Given the description of an element on the screen output the (x, y) to click on. 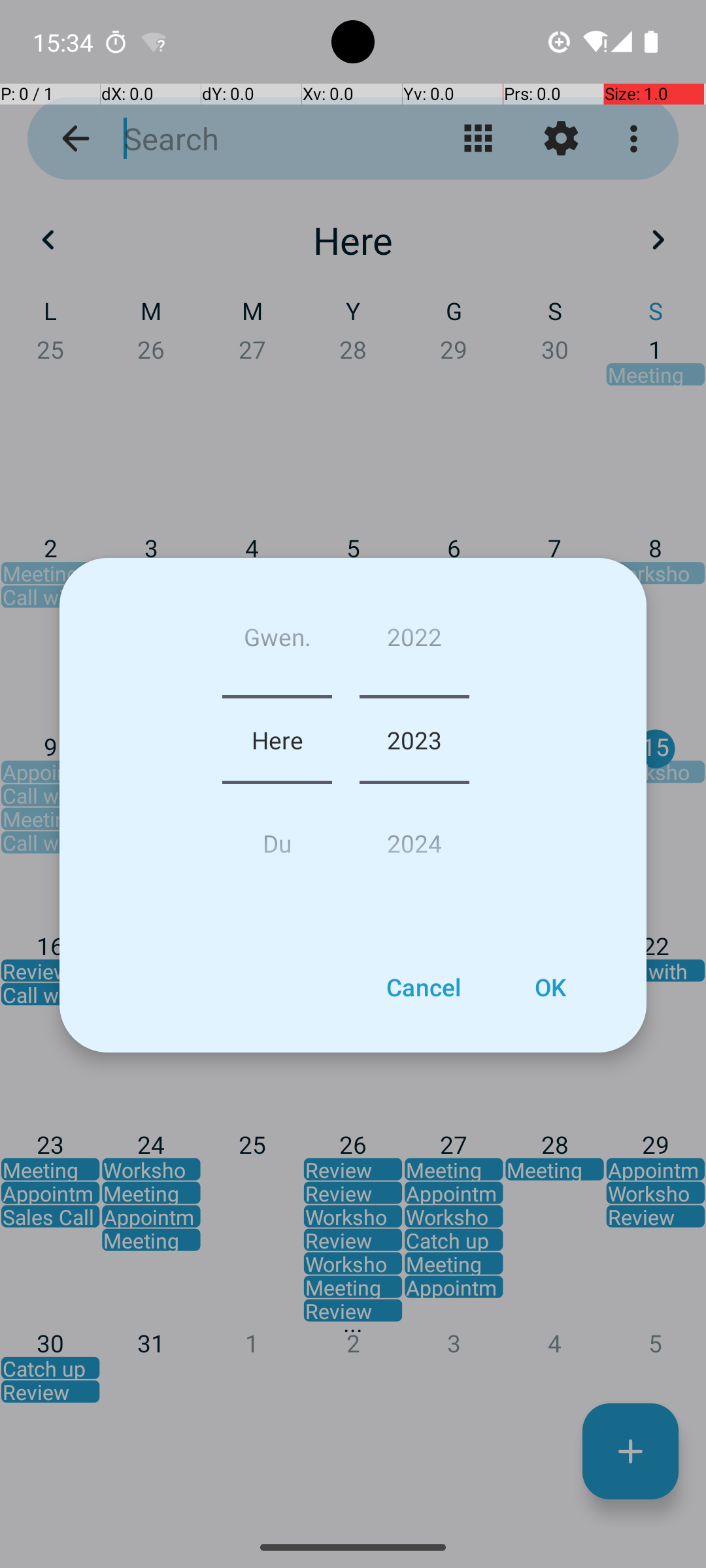
Gwen. Element type: android.widget.Button (277, 641)
Here Element type: android.widget.EditText (277, 739)
Du Element type: android.widget.Button (277, 837)
